Given the description of an element on the screen output the (x, y) to click on. 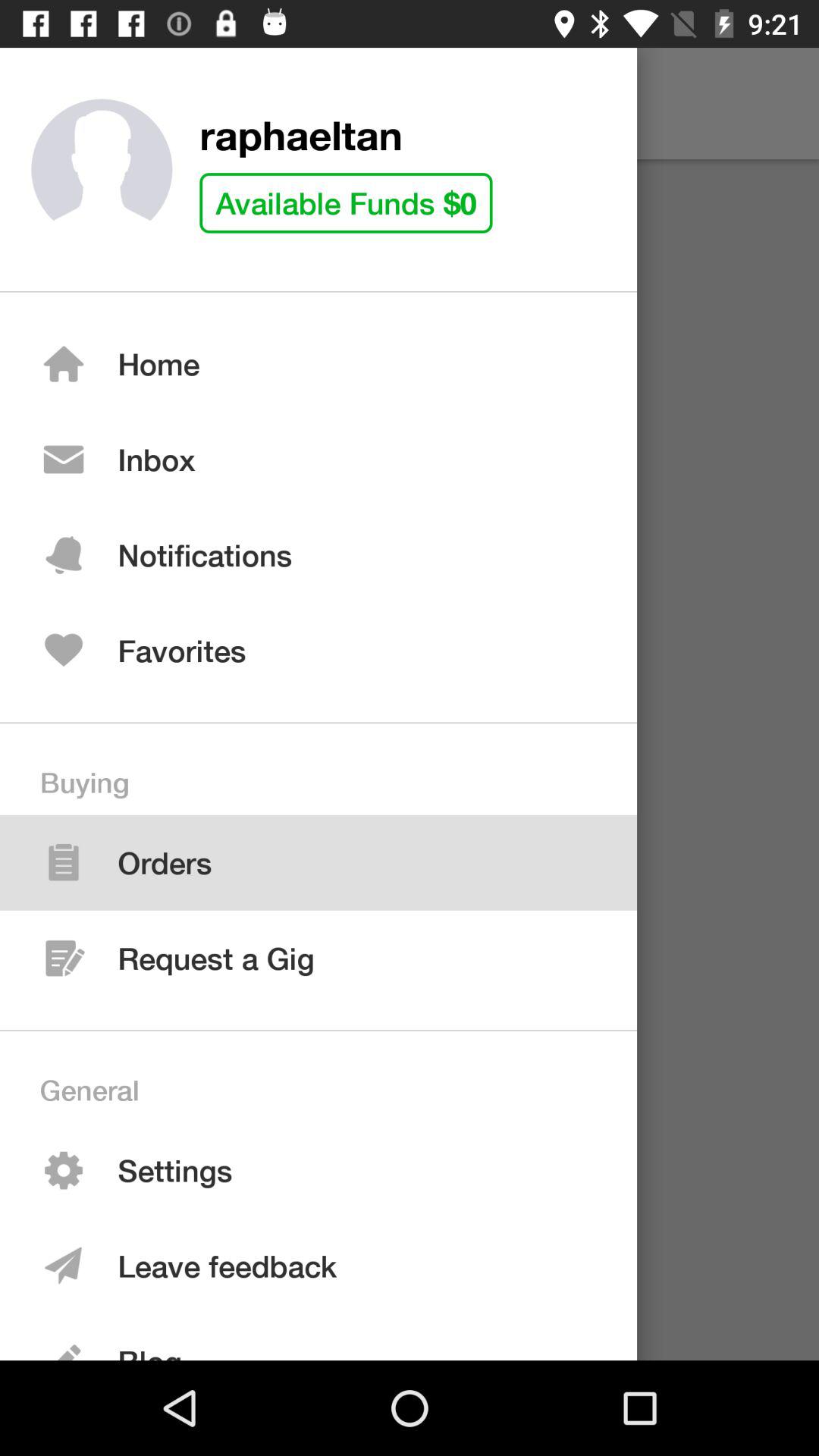
click the favorites icon (63, 651)
